Given the description of an element on the screen output the (x, y) to click on. 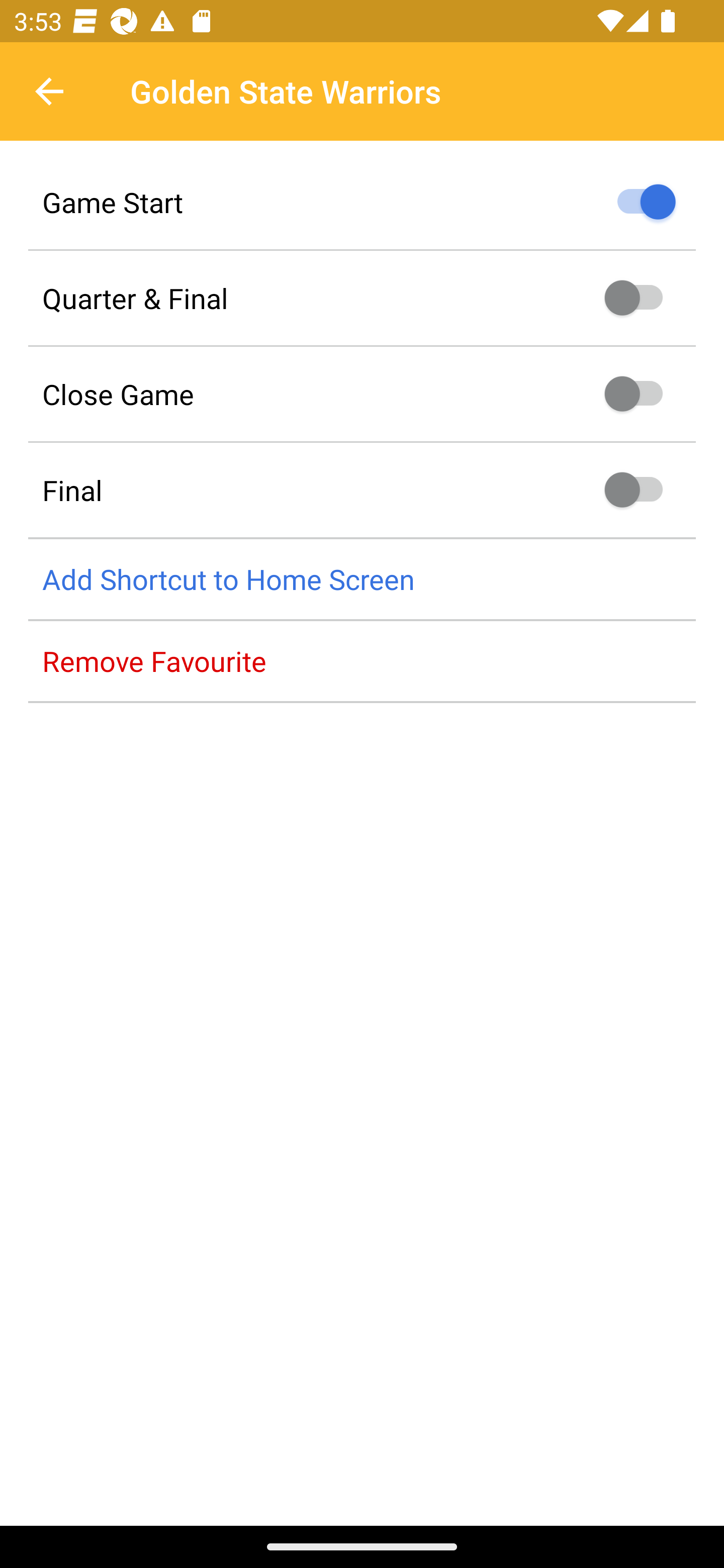
Navigate up (49, 91)
Add Shortcut to Home Screen (362, 579)
Remove Favourite (362, 661)
